Given the description of an element on the screen output the (x, y) to click on. 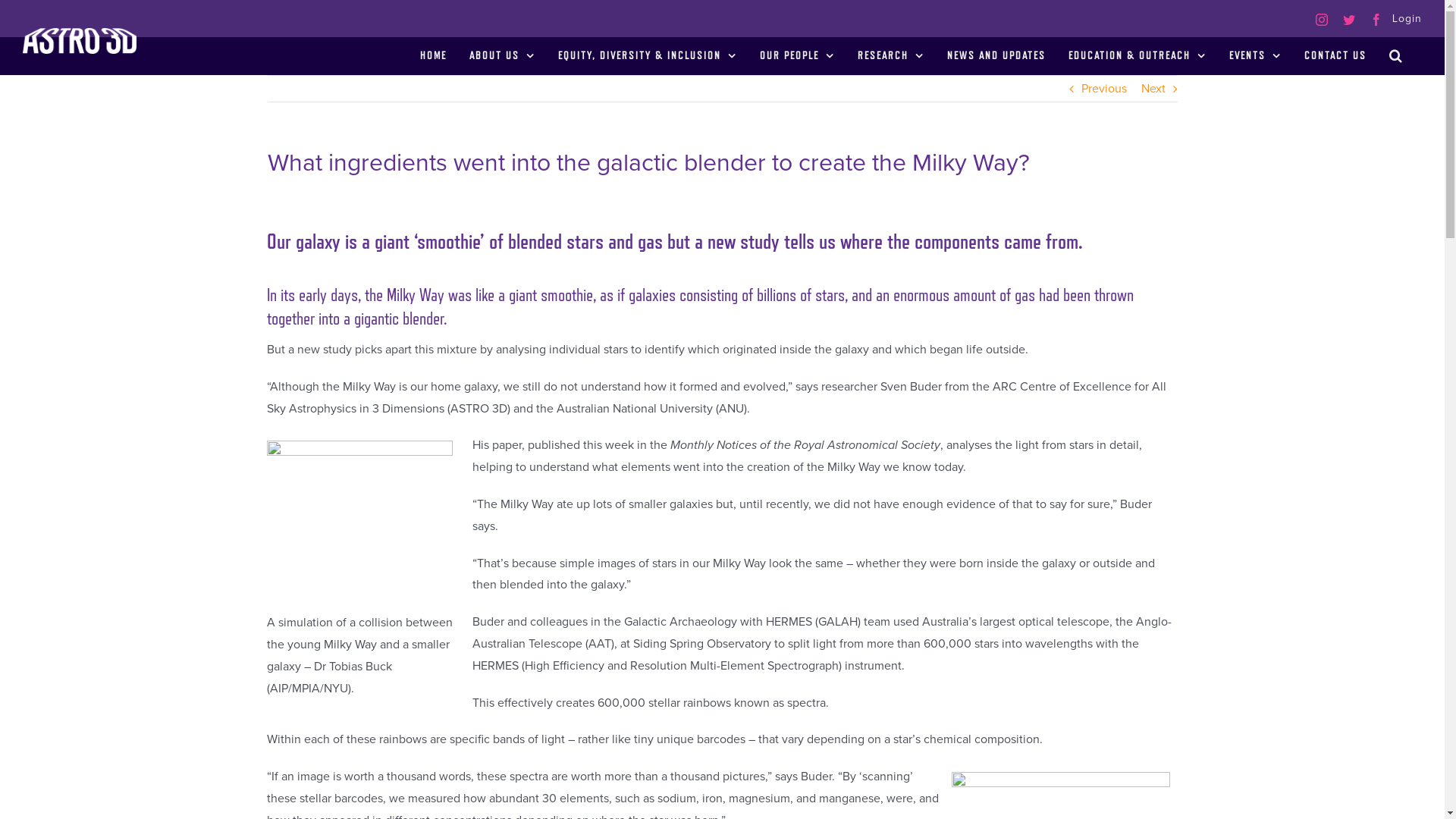
Instagram Element type: text (1321, 19)
HOME Element type: text (433, 54)
Facebook Element type: text (1376, 19)
EDUCATION & OUTREACH Element type: text (1137, 54)
NEWS AND UPDATES Element type: text (996, 54)
Search Element type: hover (1395, 54)
Previous Element type: text (1103, 88)
Login Element type: text (1401, 18)
EQUITY, DIVERSITY & INCLUSION Element type: text (647, 54)
Next Element type: text (1152, 88)
EVENTS Element type: text (1255, 54)
ABOUT US Element type: text (502, 54)
OUR PEOPLE Element type: text (796, 54)
Twitter Element type: text (1349, 19)
CONTACT US Element type: text (1335, 54)
RESEARCH Element type: text (890, 54)
